Given the description of an element on the screen output the (x, y) to click on. 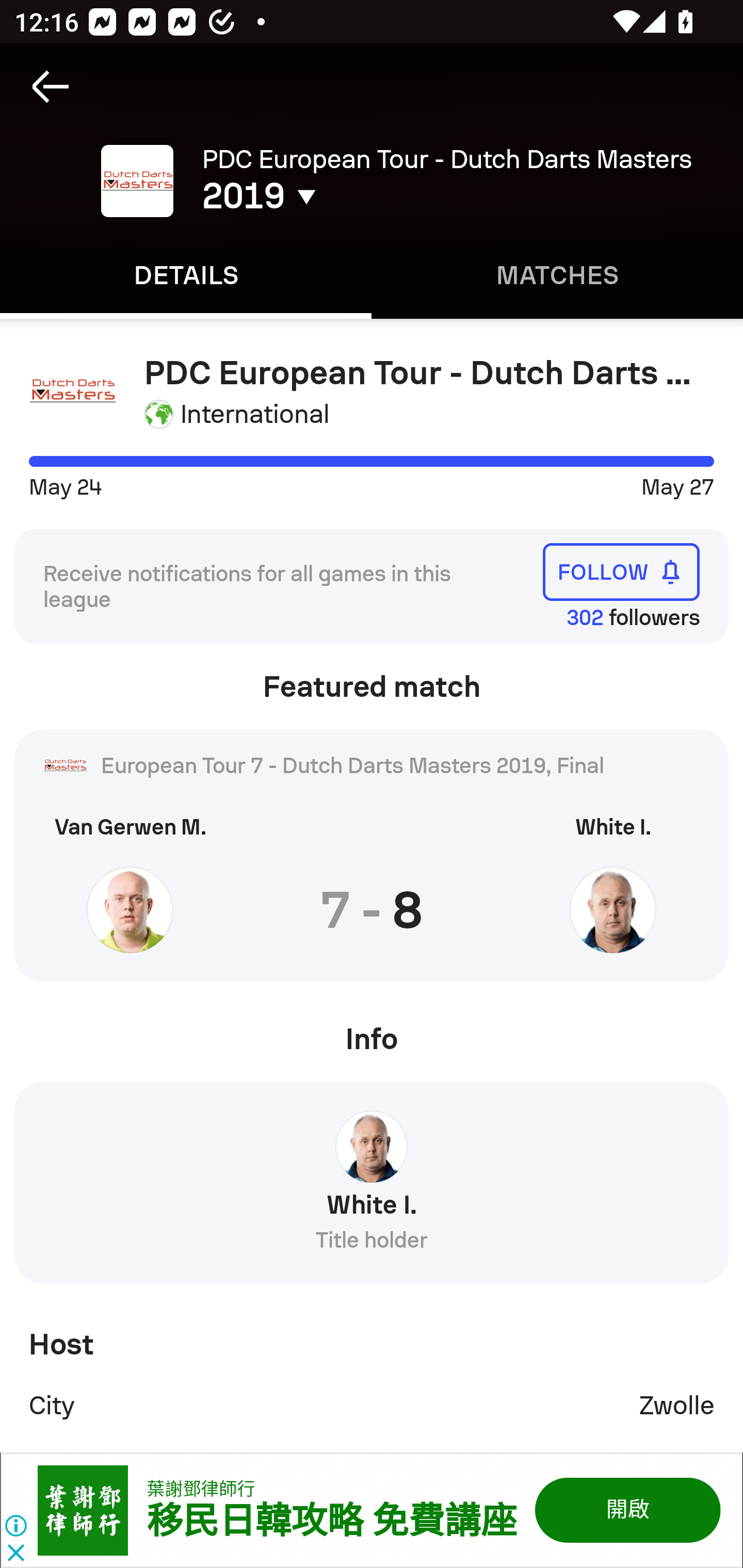
Navigate up (50, 86)
2019 (350, 195)
Matches MATCHES (557, 275)
FOLLOW (621, 571)
White I. Title holder (371, 1190)
葉謝鄧律師行 (200, 1488)
開啟 (626, 1509)
移民日韓攻略 免費講座 (330, 1521)
